Given the description of an element on the screen output the (x, y) to click on. 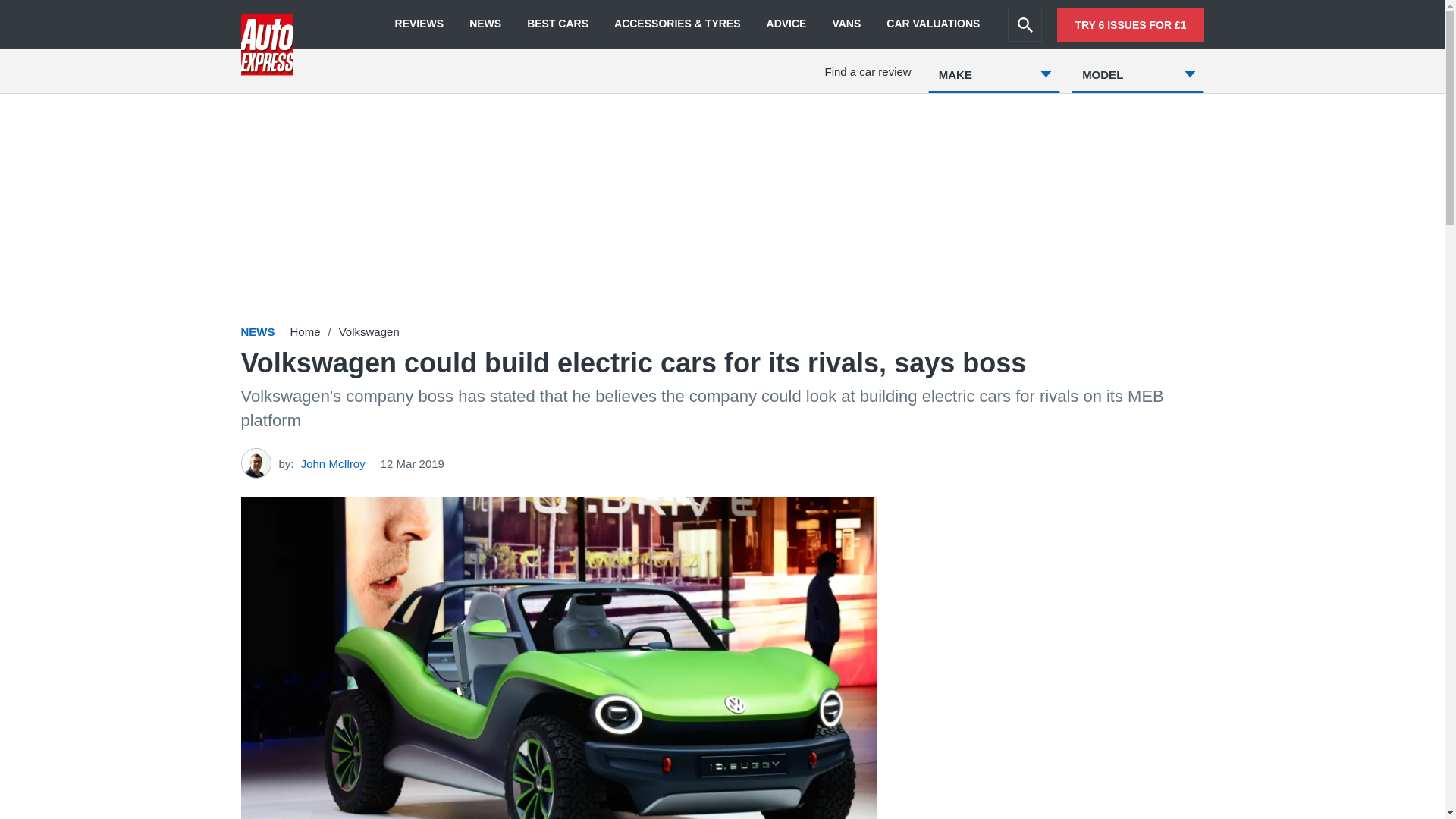
Search (1024, 24)
NEWS (485, 24)
REVIEWS (419, 24)
BEST CARS (557, 24)
CAR VALUATIONS (932, 24)
VANS (845, 24)
ADVICE (786, 24)
Search (1024, 24)
